Given the description of an element on the screen output the (x, y) to click on. 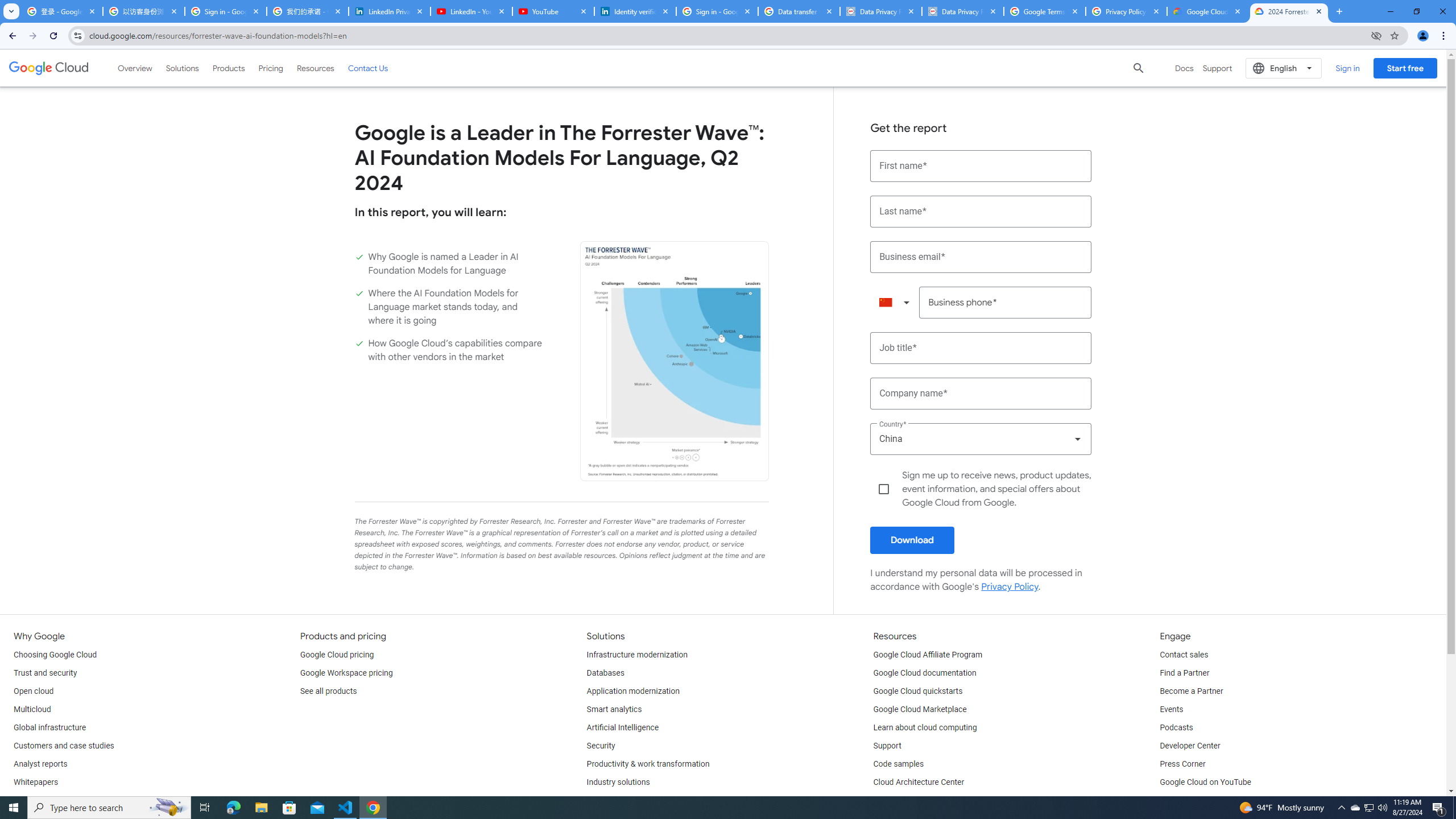
First name* (981, 165)
Industry solutions (617, 782)
Google Cloud Privacy Notice (1207, 11)
Infrastructure modernization (637, 655)
Google Cloud documentation (924, 673)
Job title* (981, 347)
Learn about cloud computing (924, 728)
LinkedIn - YouTube (470, 11)
Artificial Intelligence (622, 728)
Data Privacy Framework (963, 11)
